Given the description of an element on the screen output the (x, y) to click on. 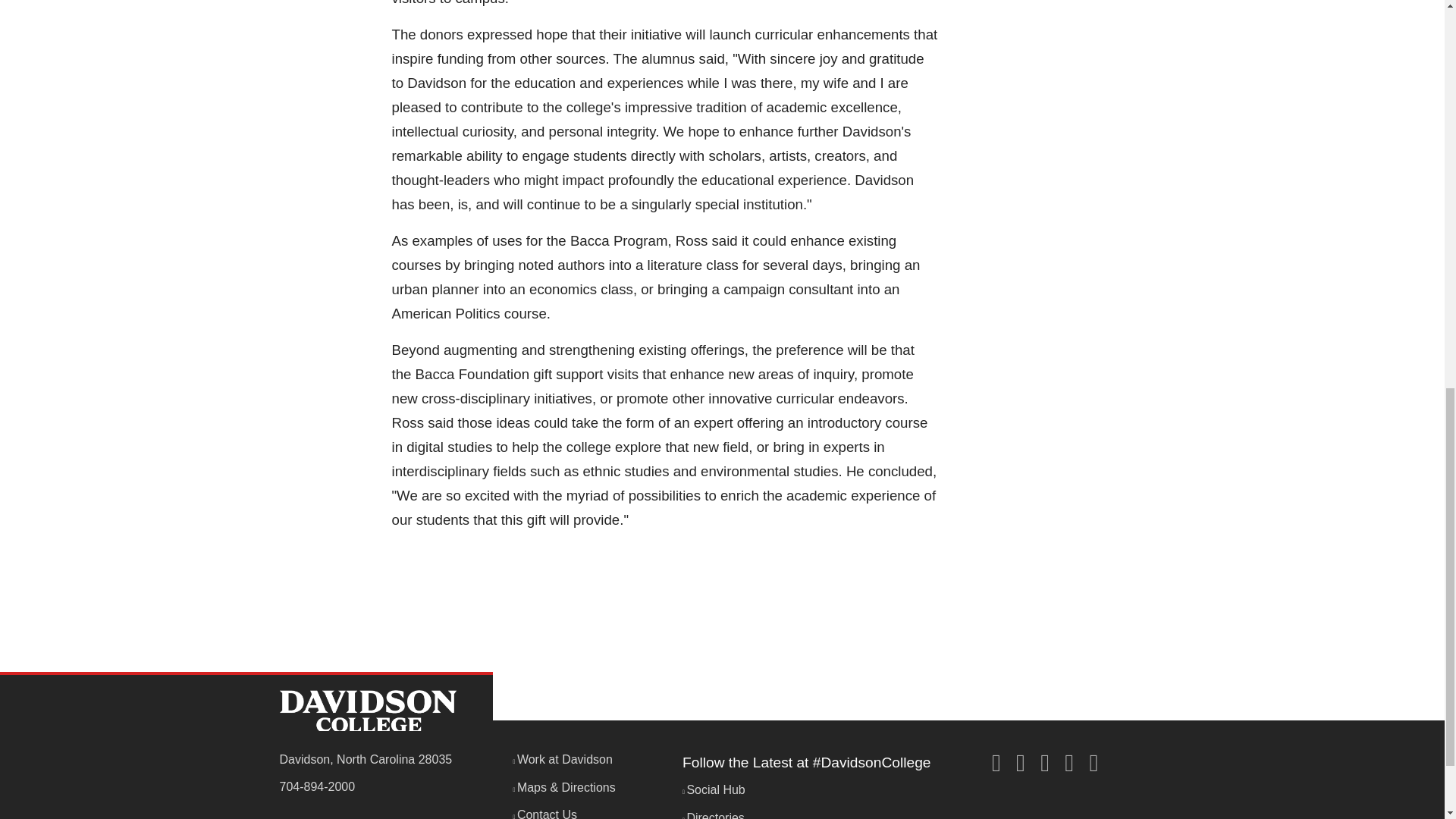
Davidson College Homepage (367, 711)
Work at Davidson (562, 758)
704-894-2000 (317, 786)
Directories (713, 815)
Social Hub (713, 789)
Contact Us (544, 813)
